Given the description of an element on the screen output the (x, y) to click on. 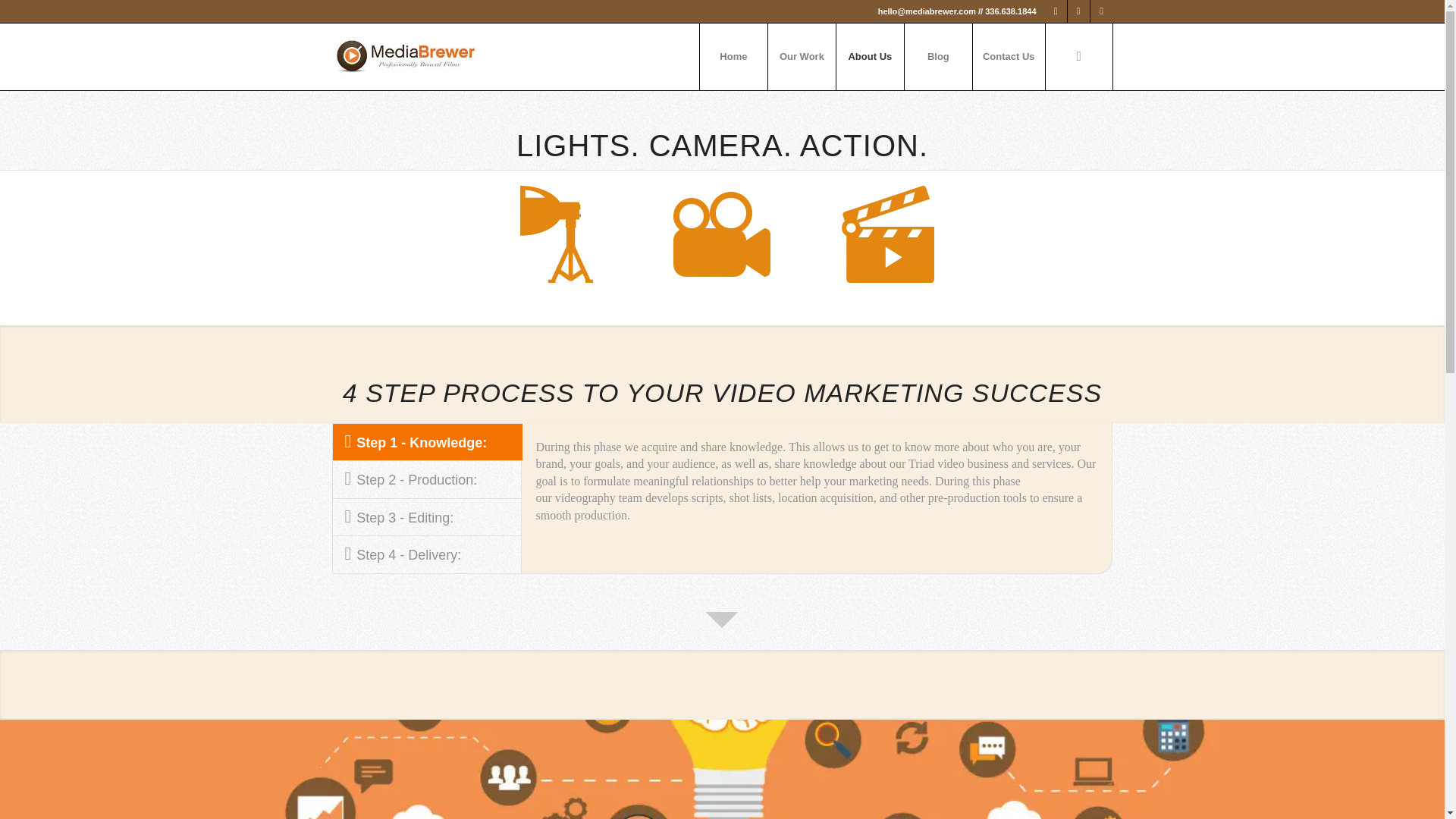
About Us (869, 56)
Film Camera (721, 236)
Home (732, 56)
Blog (938, 56)
Facebook (1101, 11)
Our Work (801, 56)
Contact Us (1008, 56)
Film Light (556, 236)
Video Action (888, 236)
Twitter (1078, 11)
